Given the description of an element on the screen output the (x, y) to click on. 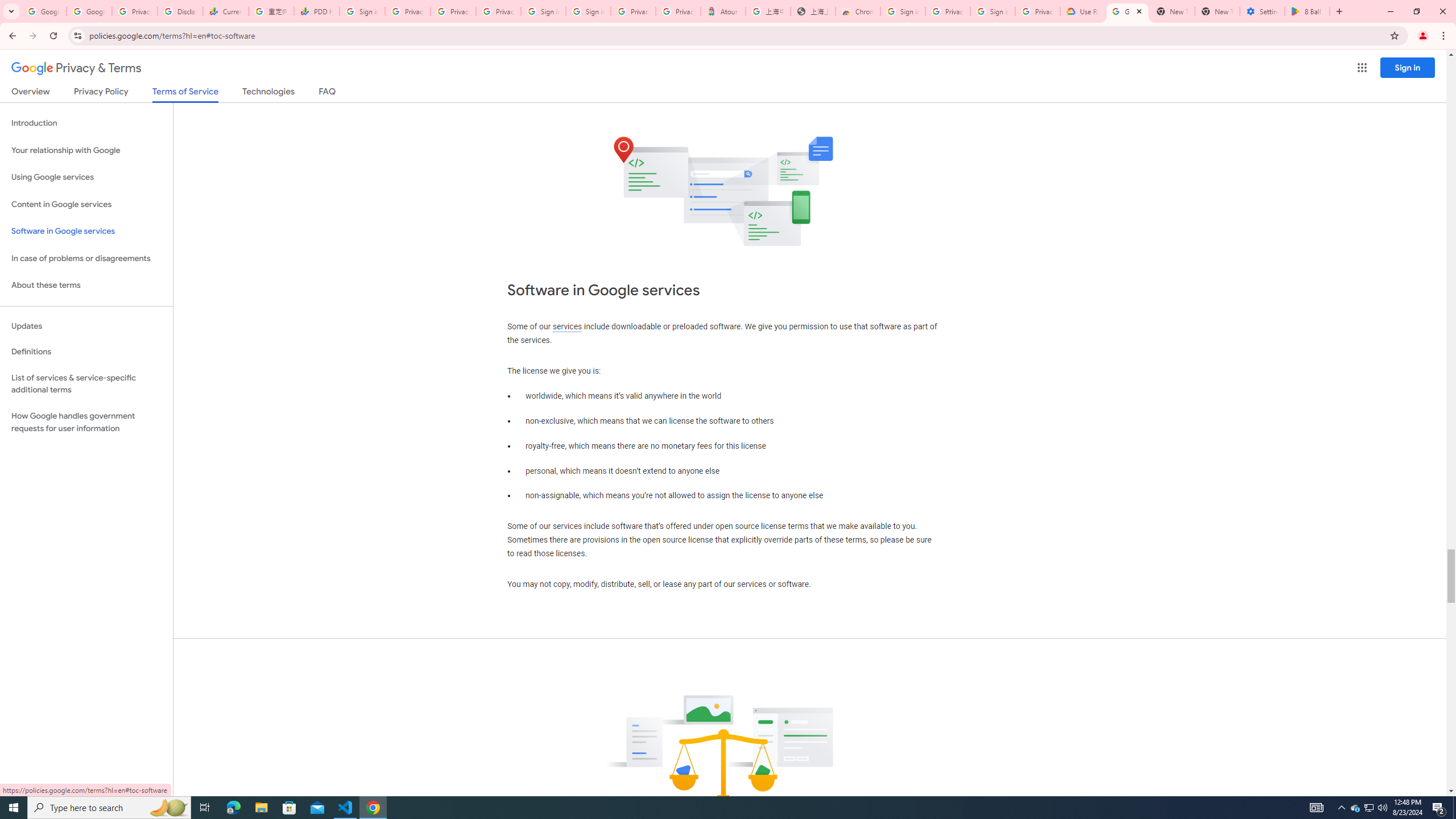
8 Ball Pool - Apps on Google Play (1307, 11)
Using Google services (86, 176)
About these terms (86, 284)
Google Workspace Admin Community (43, 11)
Your relationship with Google (86, 150)
